Given the description of an element on the screen output the (x, y) to click on. 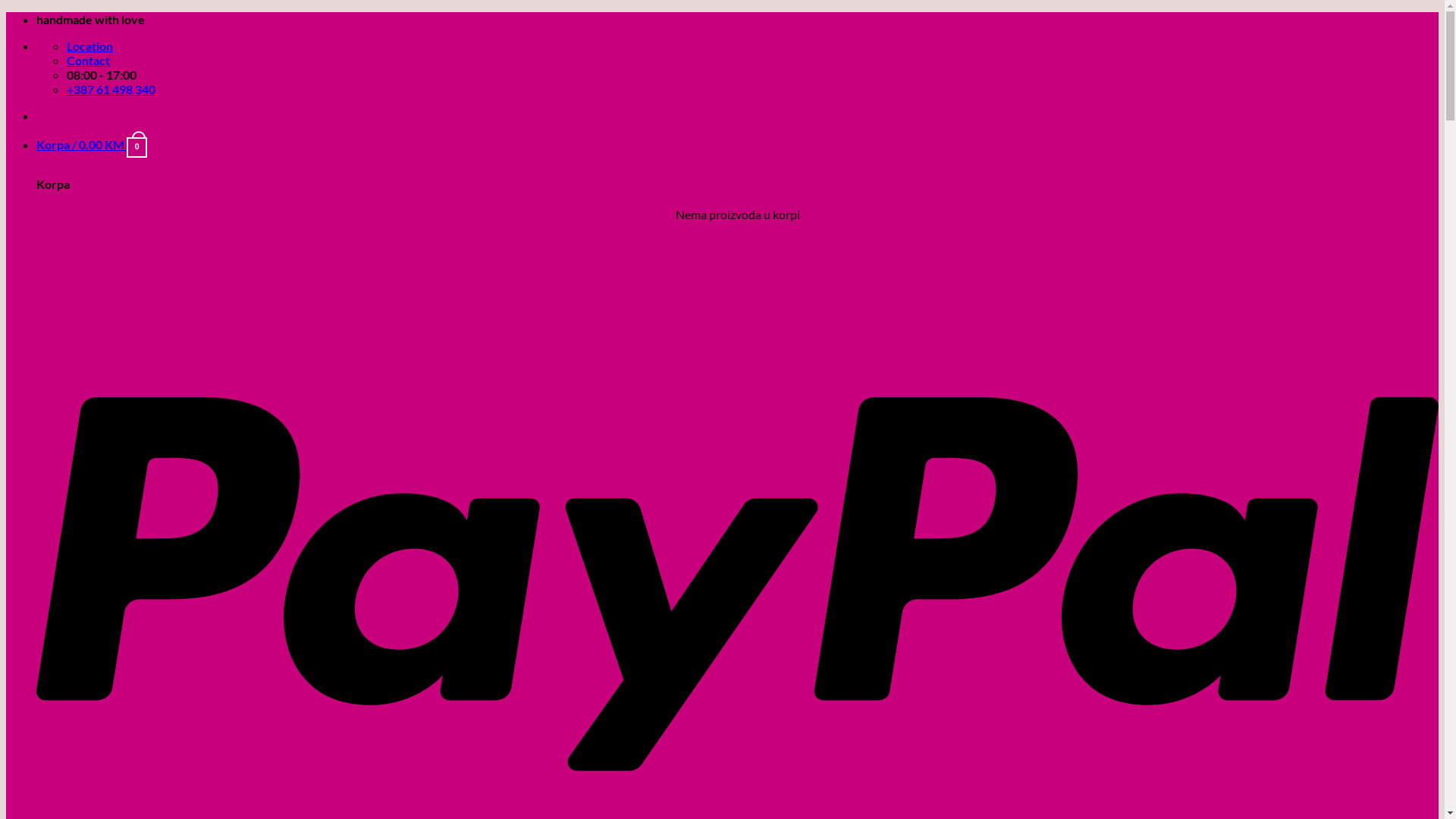
Skip to content Element type: text (5, 11)
Korpa / 0.00 KM 0 Element type: text (91, 144)
08:00 - 17:00 Element type: text (101, 74)
Contact Element type: text (87, 60)
+387 61 498 340 Element type: text (110, 88)
Location Element type: text (89, 45)
